Given the description of an element on the screen output the (x, y) to click on. 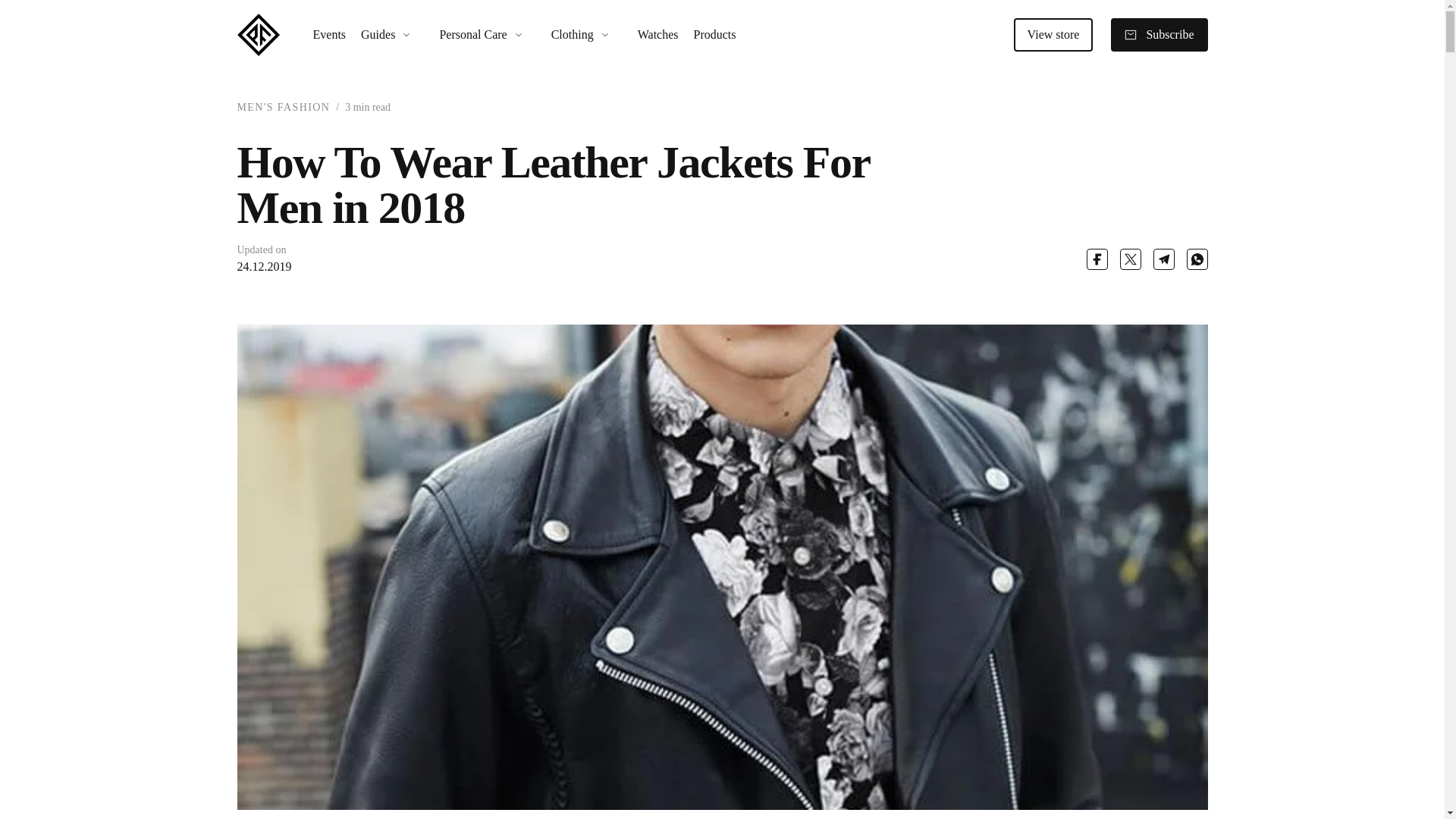
Personal Care (479, 34)
View store (1053, 34)
Clothing (579, 34)
Events (321, 34)
MEN'S FASHION (282, 107)
Guides (384, 34)
Watches (650, 34)
Products (706, 34)
